Given the description of an element on the screen output the (x, y) to click on. 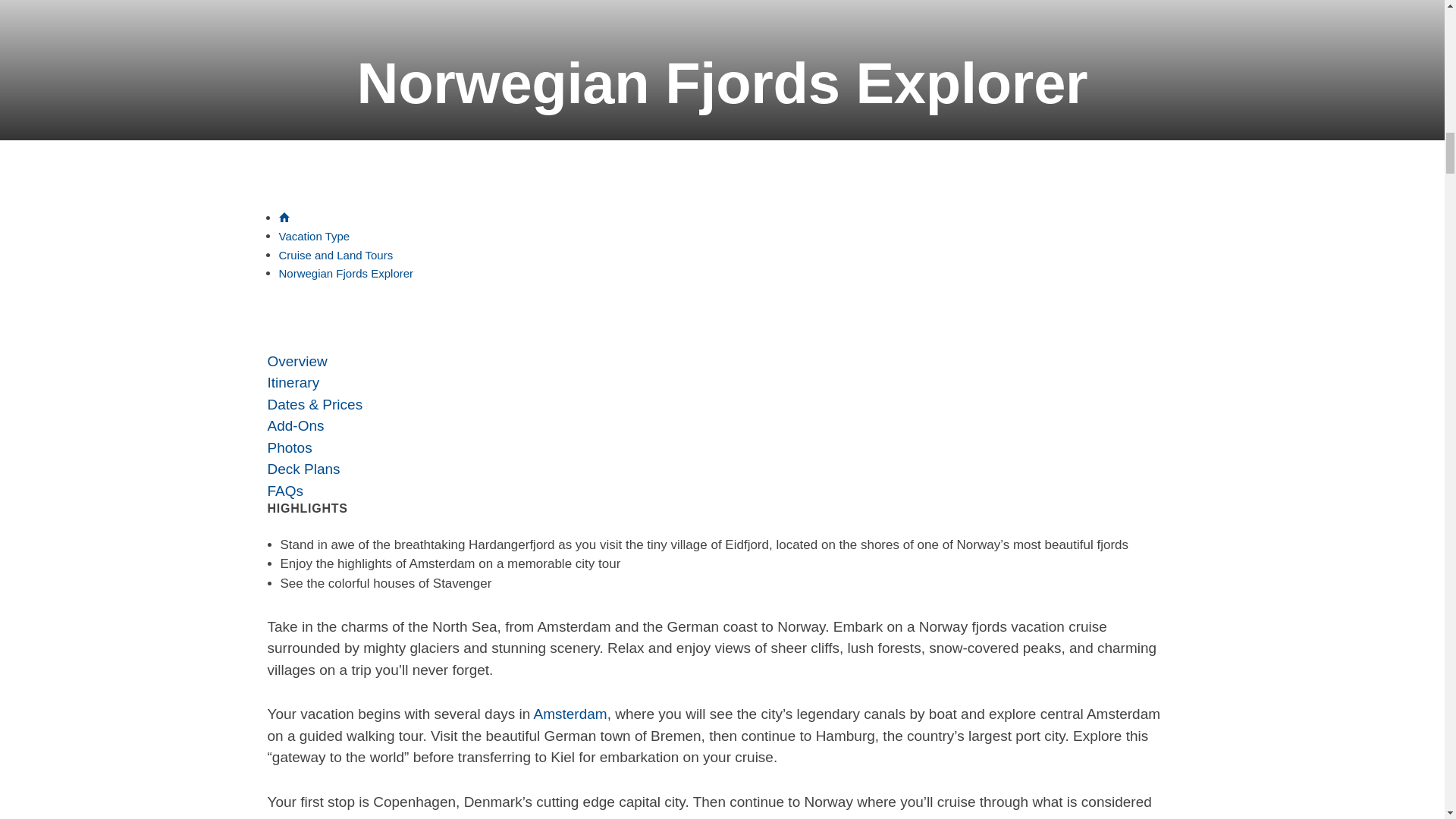
Add-Ons (294, 425)
FAQs (284, 490)
Photos (288, 447)
Deck Plans (302, 468)
Itinerary (292, 382)
Overview (296, 360)
